Given the description of an element on the screen output the (x, y) to click on. 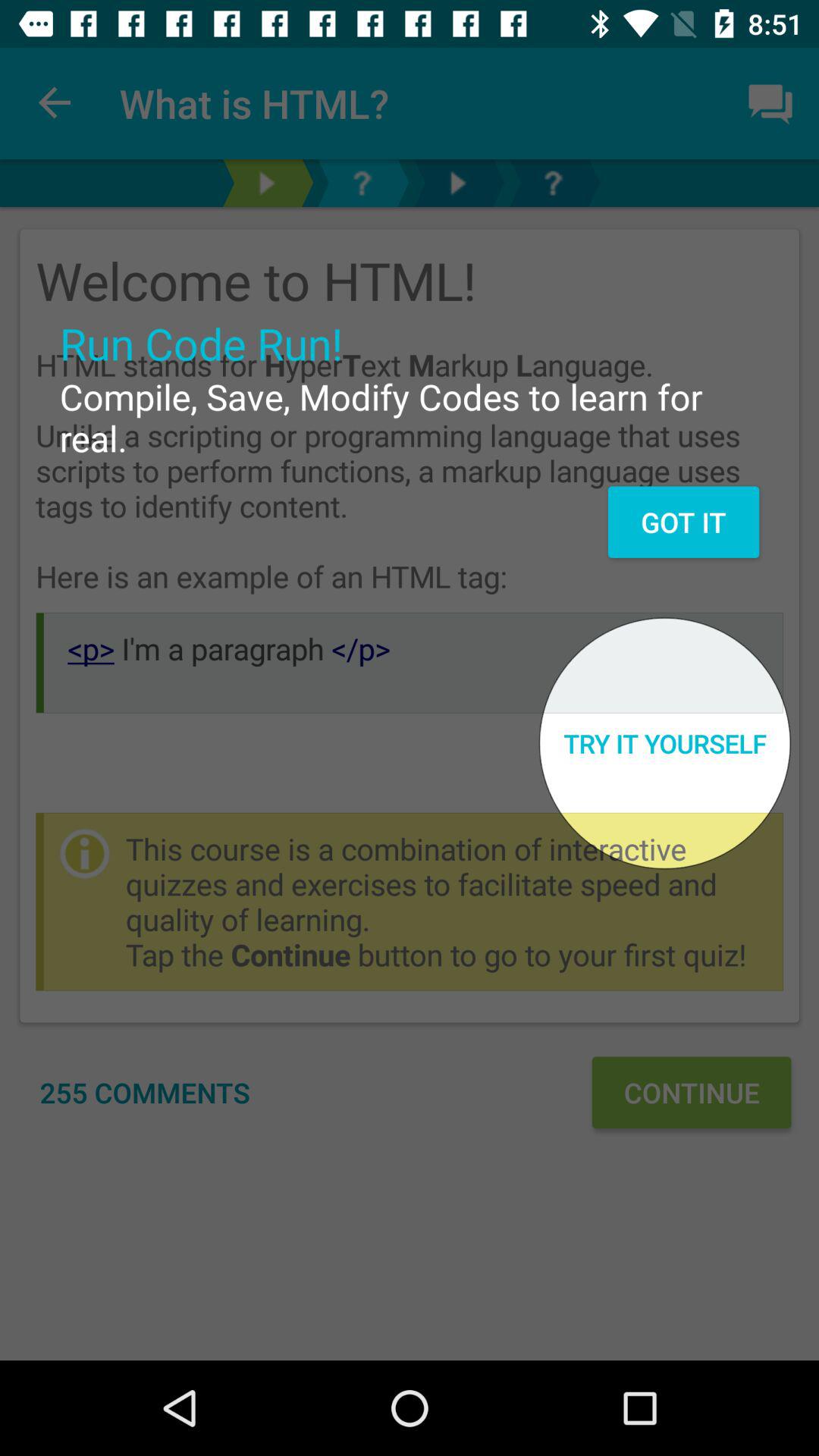
play button (457, 183)
